Given the description of an element on the screen output the (x, y) to click on. 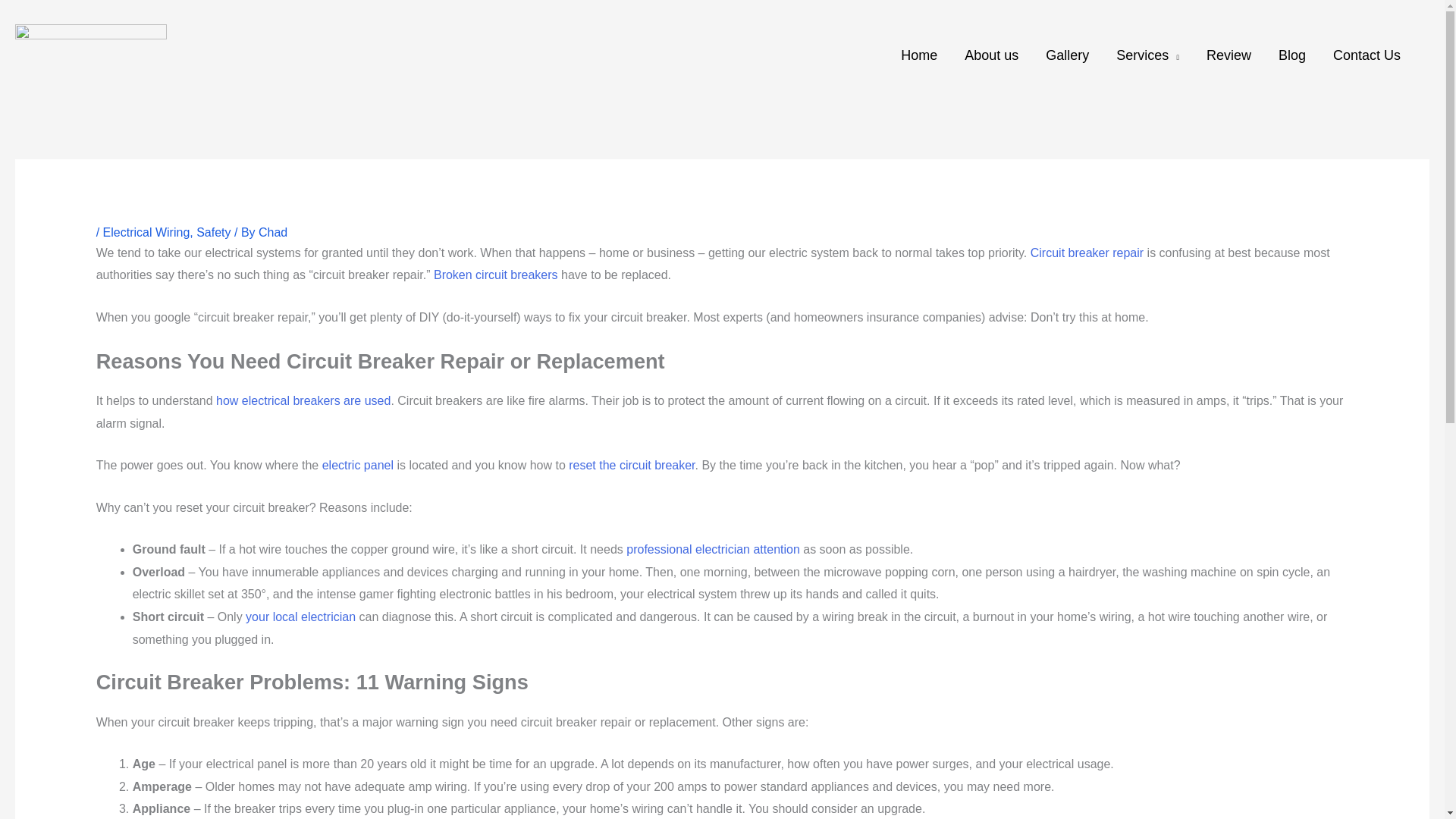
Electrical Wiring (146, 232)
View all posts by Chad (272, 232)
professional electrician attention (712, 549)
About us (991, 54)
Contact Us (1366, 54)
electric panel (357, 464)
Review (1228, 54)
Broken circuit breakers (495, 274)
Home (918, 54)
Services (1147, 54)
